Given the description of an element on the screen output the (x, y) to click on. 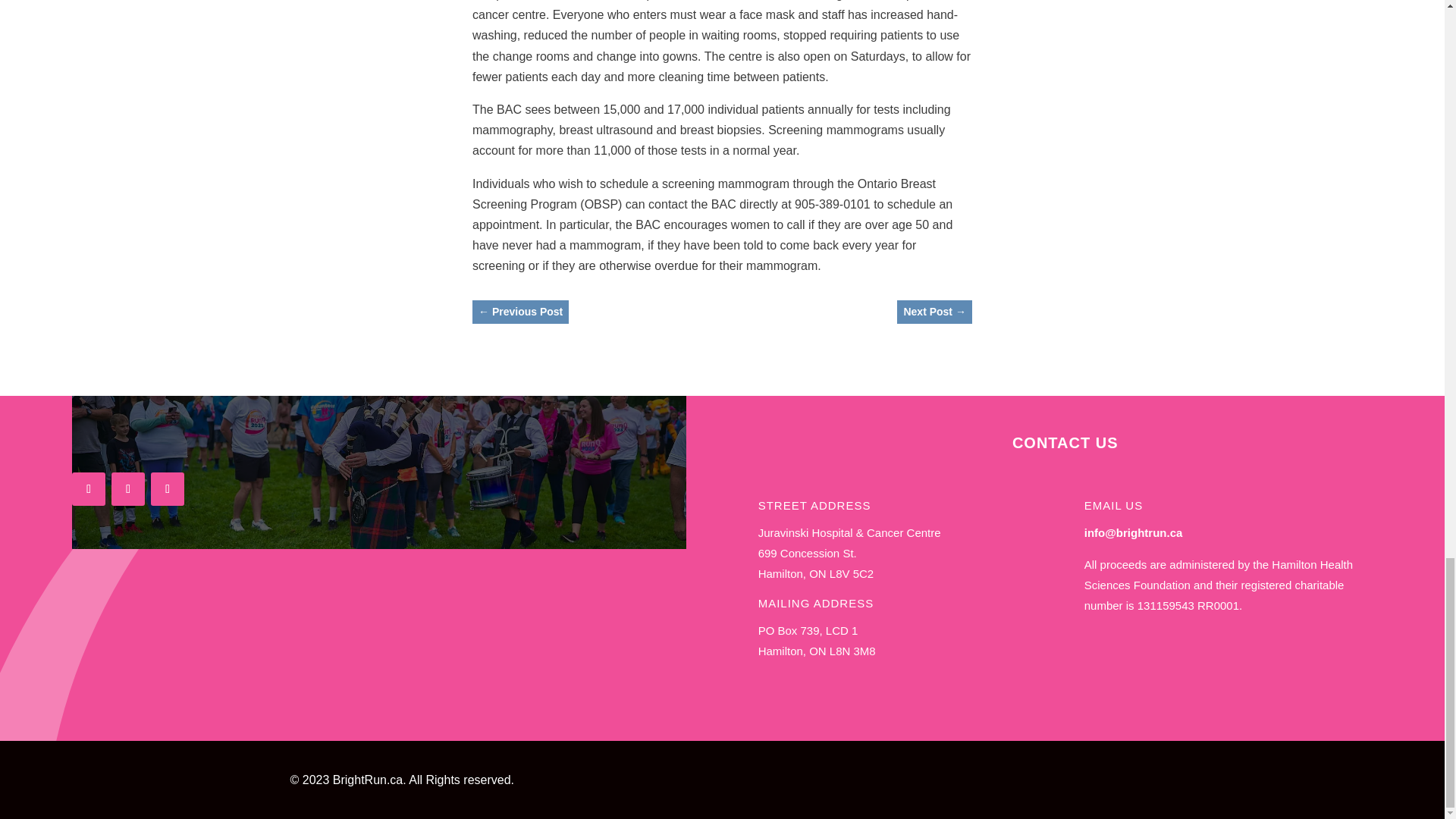
Follow on Facebook (87, 489)
Follow on Youtube (167, 489)
Follow on Instagram (128, 489)
